Given the description of an element on the screen output the (x, y) to click on. 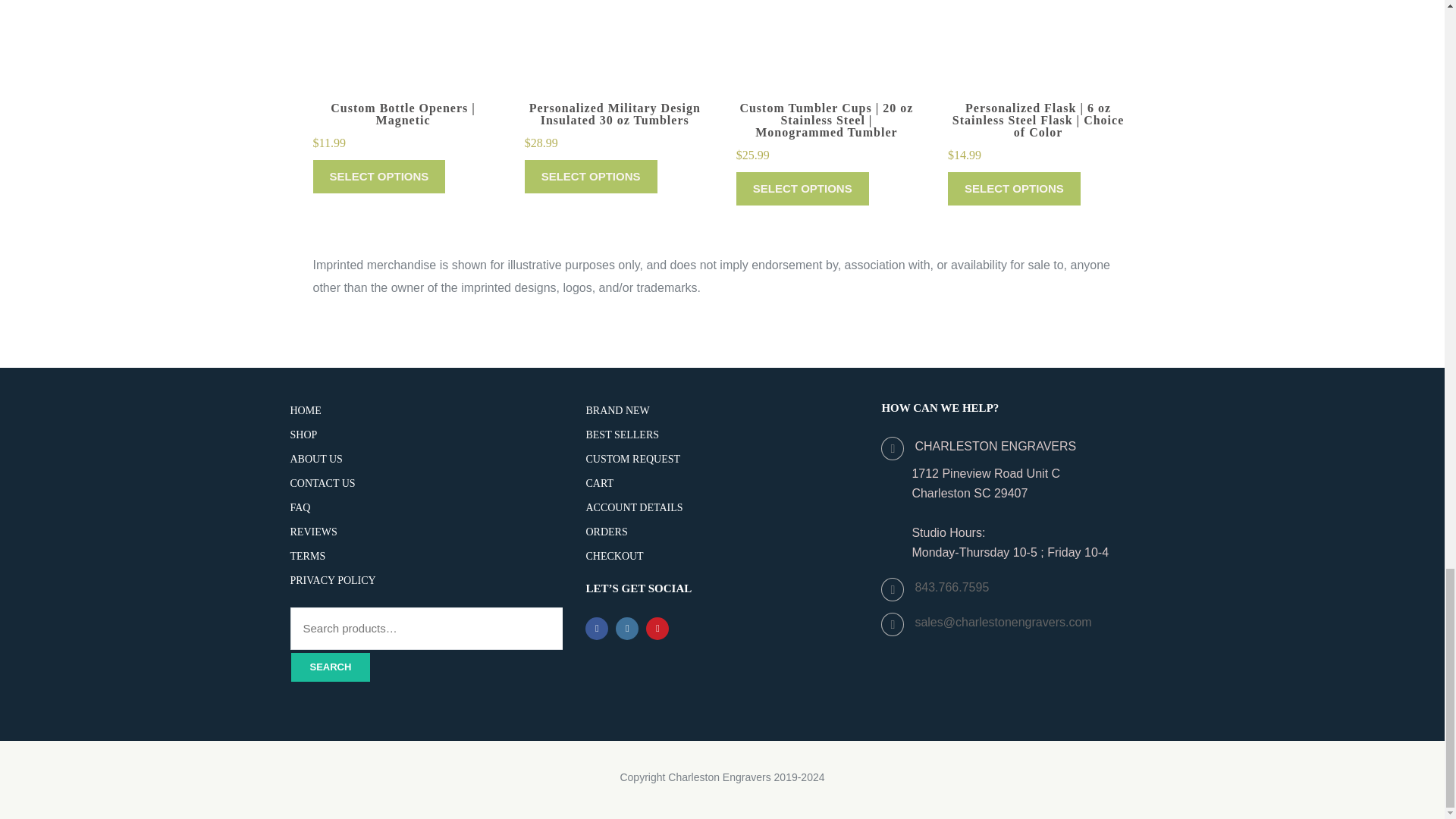
Instagram (627, 628)
Facebook (596, 628)
